Given the description of an element on the screen output the (x, y) to click on. 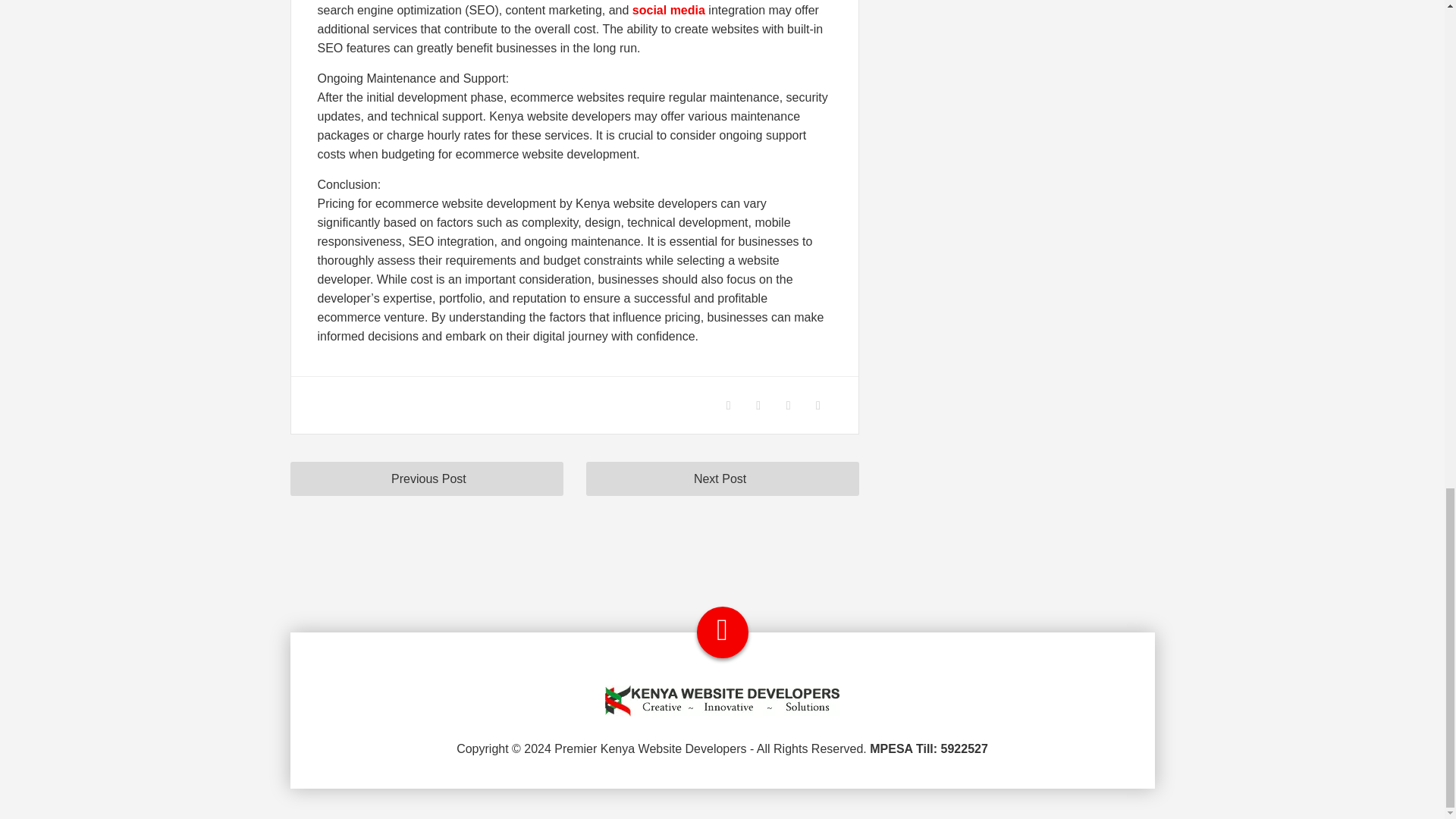
social media (666, 10)
Next Post (722, 478)
Previous Post (425, 478)
